Given the description of an element on the screen output the (x, y) to click on. 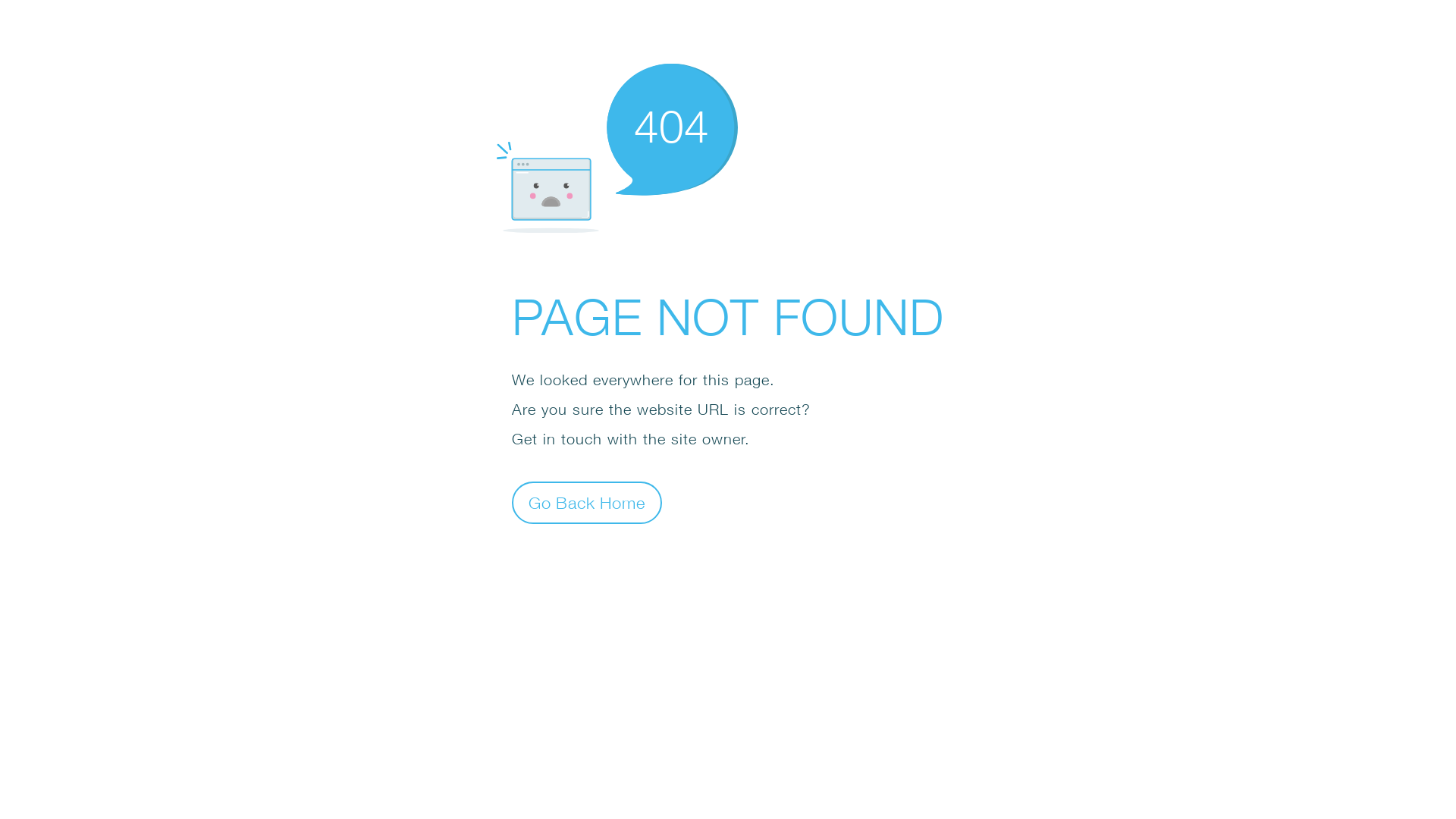
Go Back Home Element type: text (586, 502)
